Given the description of an element on the screen output the (x, y) to click on. 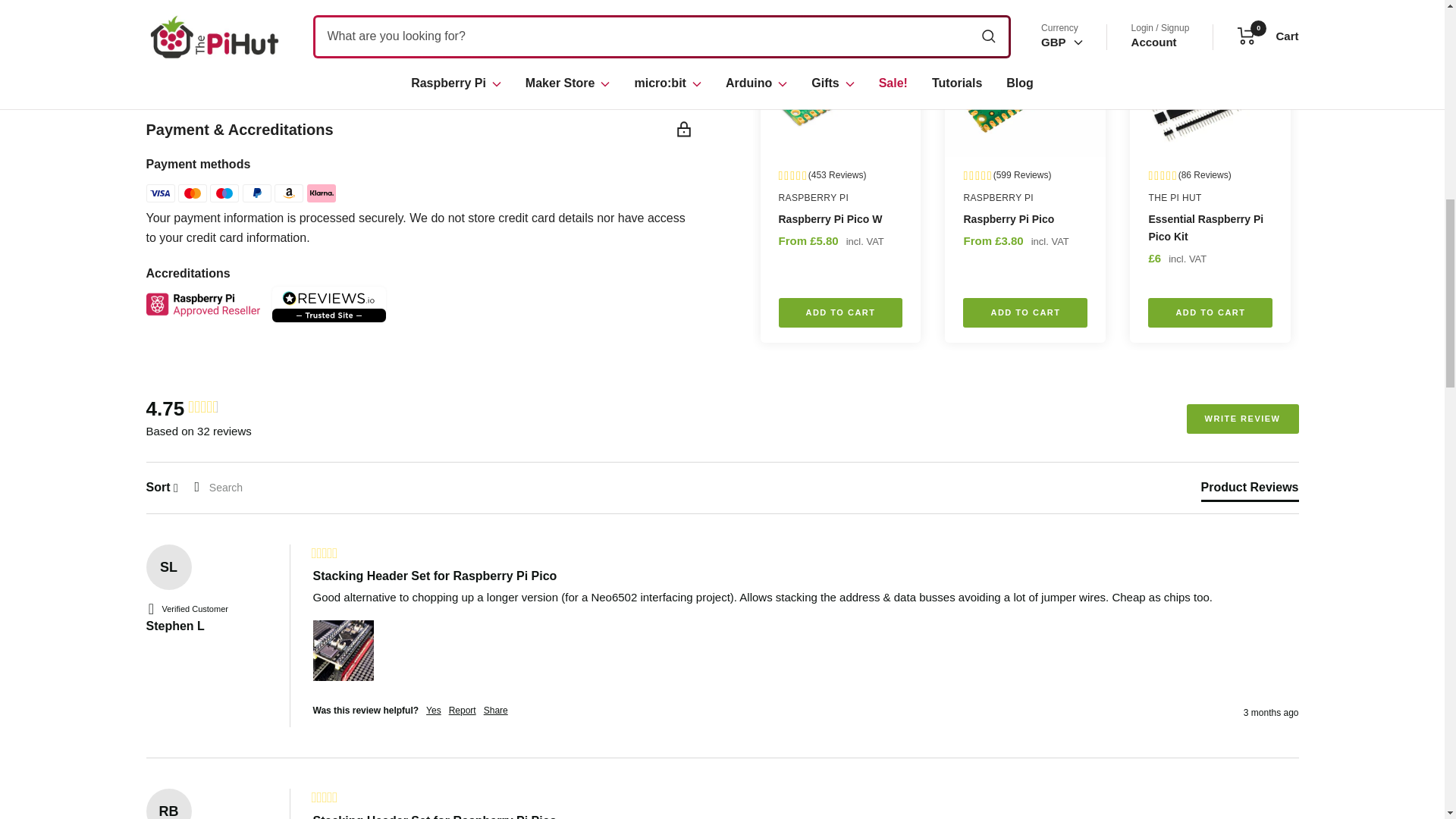
Search (246, 487)
Maestro (223, 193)
4.81 Stars - 86 Reviews (1210, 8)
4.75 Stars (202, 408)
Visa (159, 193)
4.83 Stars - 599 Reviews (1024, 8)
4.93 Stars - 453 Reviews (839, 8)
Mastercard (191, 193)
